Given the description of an element on the screen output the (x, y) to click on. 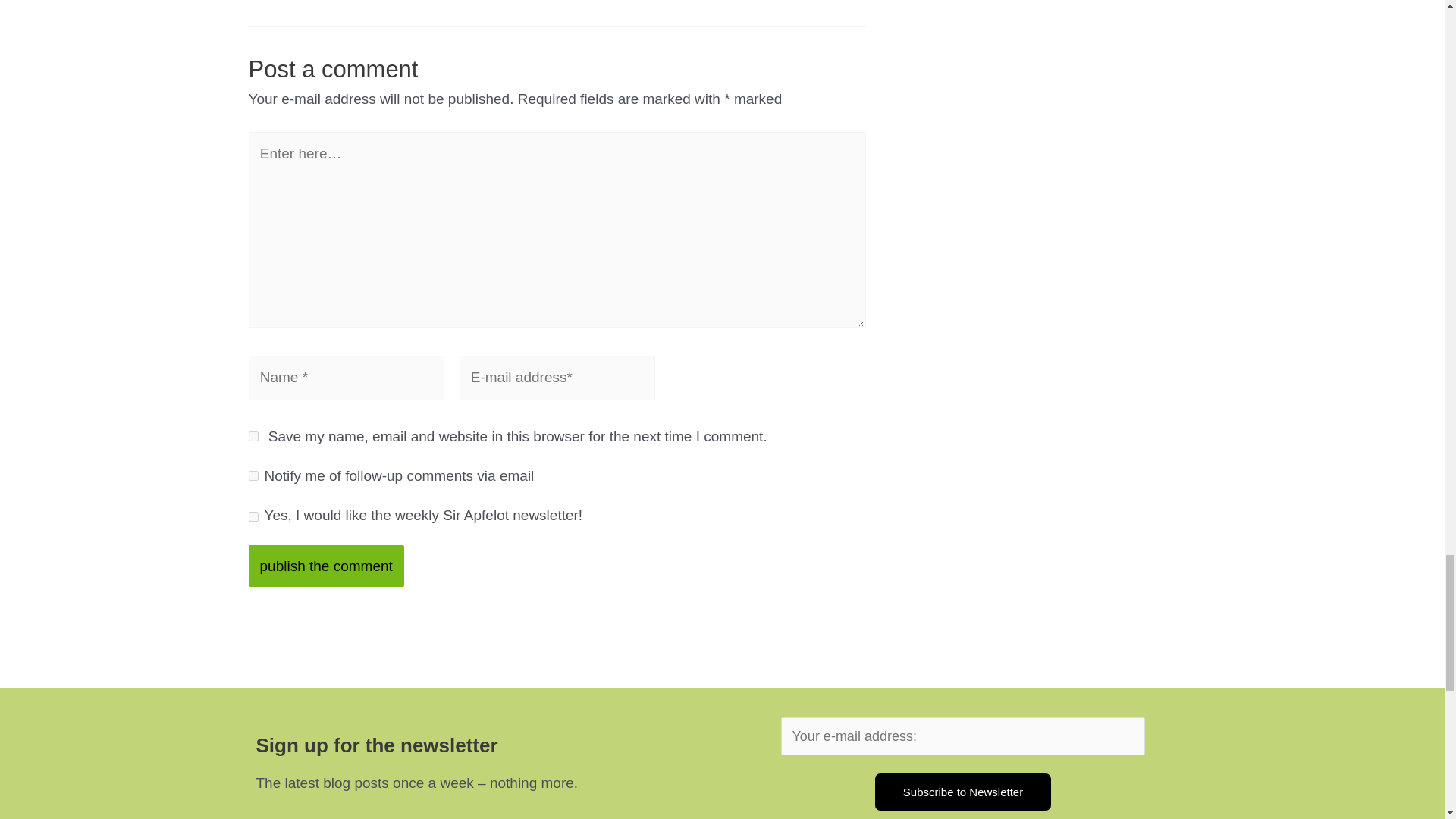
Subscribe to Newsletter (963, 791)
publish the comment (326, 566)
yes (253, 436)
subscribe (253, 475)
1 (253, 516)
